Given the description of an element on the screen output the (x, y) to click on. 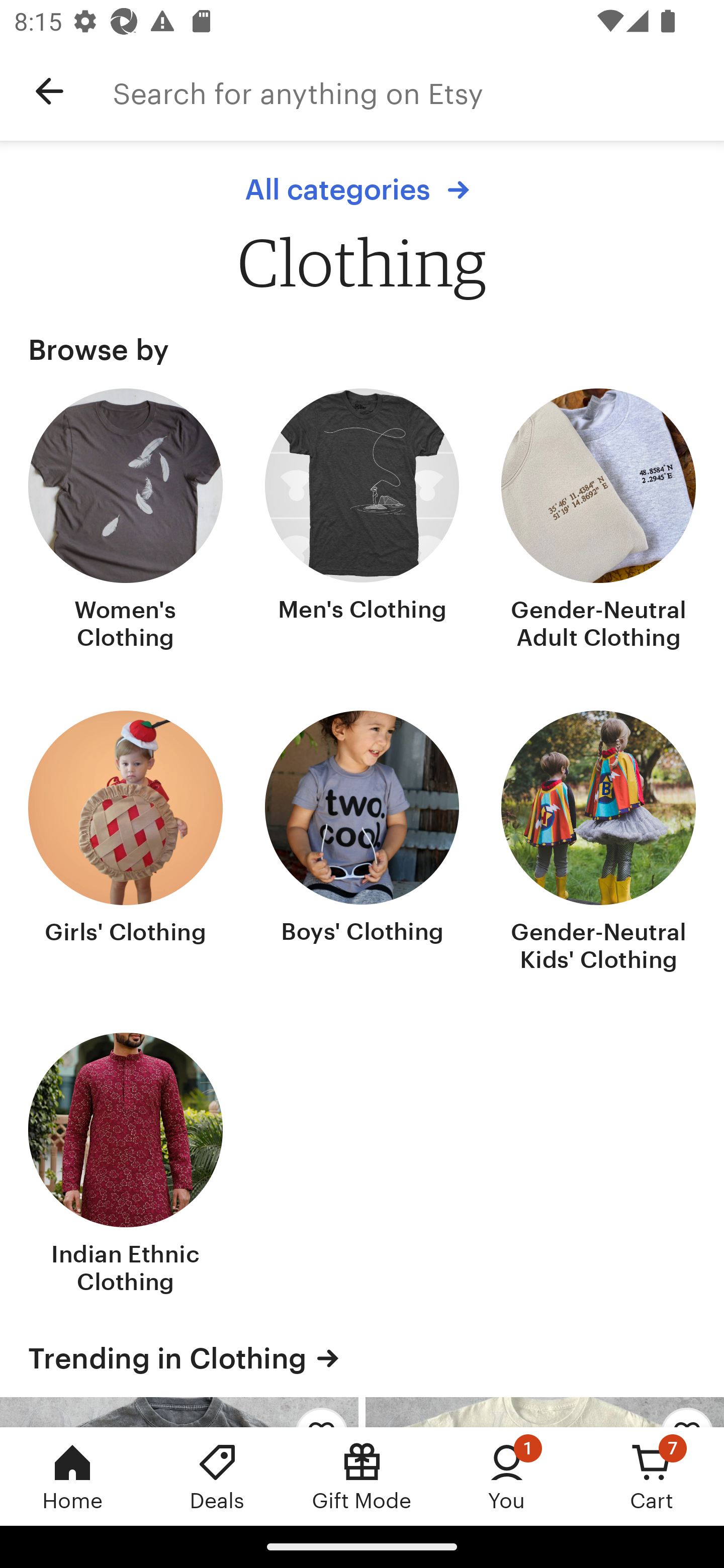
Navigate up (49, 91)
Search for anything on Etsy (418, 91)
All categories (361, 189)
Women's Clothing (125, 520)
Men's Clothing (361, 520)
Gender-Neutral Adult Clothing (598, 520)
Girls' Clothing (125, 843)
Boys' Clothing (361, 843)
Gender-Neutral Kids' Clothing (598, 843)
Indian Ethnic Clothing (125, 1165)
Trending in Clothing  (361, 1358)
Deals (216, 1475)
Gift Mode (361, 1475)
You, 1 new notification You (506, 1475)
Cart, 7 new notifications Cart (651, 1475)
